Given the description of an element on the screen output the (x, y) to click on. 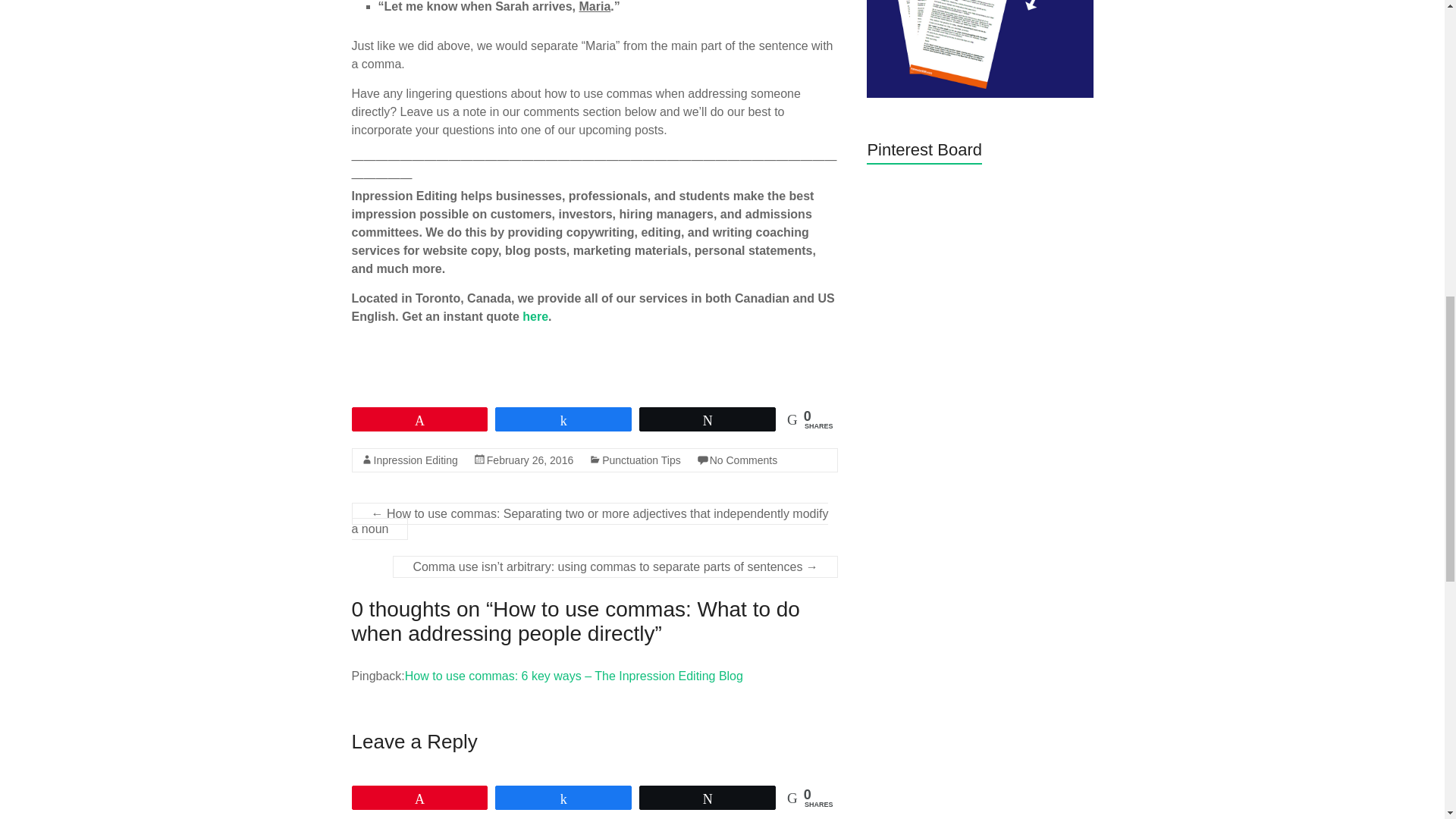
here (535, 316)
6:32 pm (529, 460)
No Comments (743, 460)
Inpression Editing (414, 460)
Punctuation Tips (641, 460)
February 26, 2016 (529, 460)
